Given the description of an element on the screen output the (x, y) to click on. 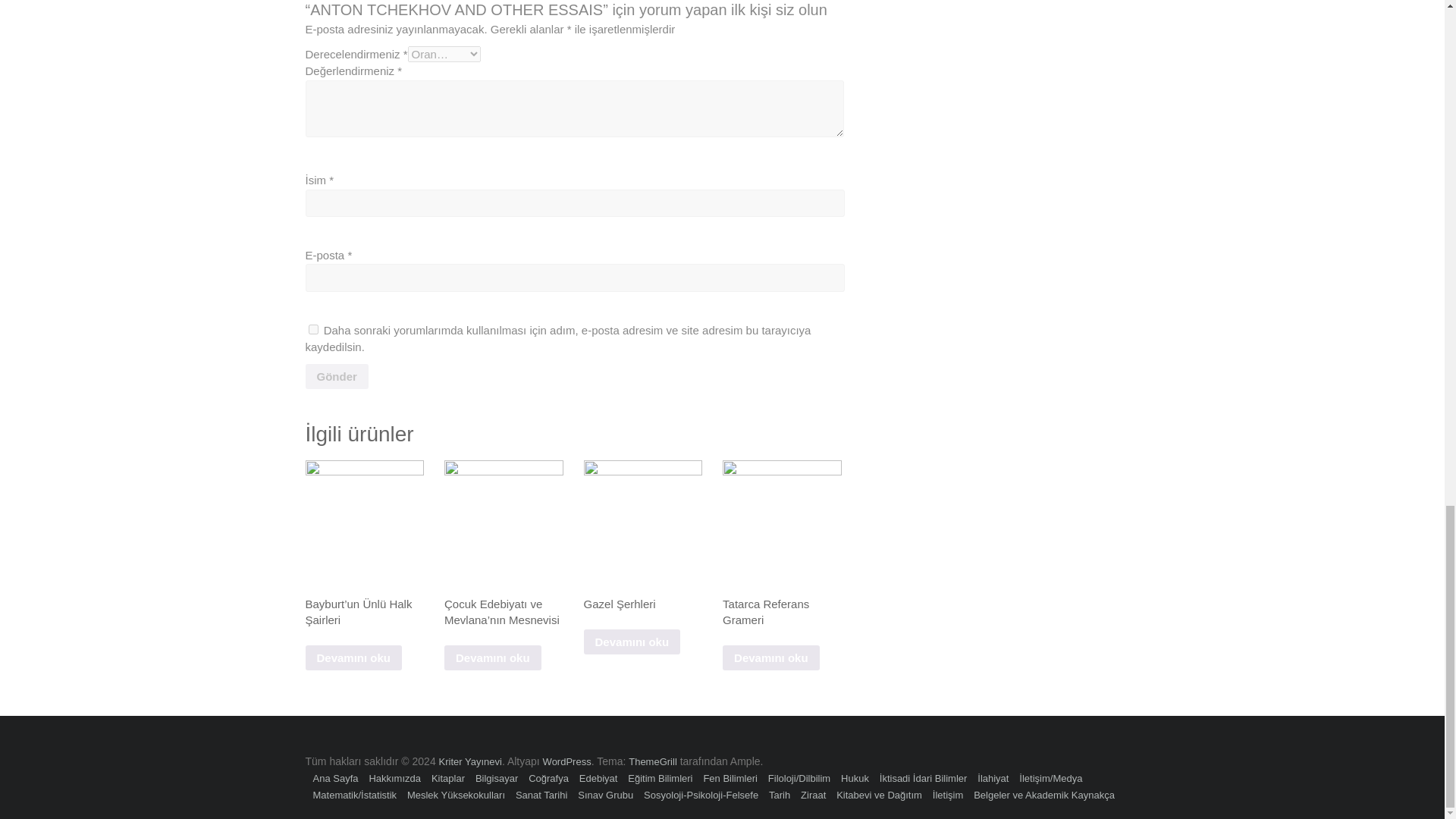
ThemeGrill (652, 761)
WordPress (567, 761)
yes (312, 329)
